Given the description of an element on the screen output the (x, y) to click on. 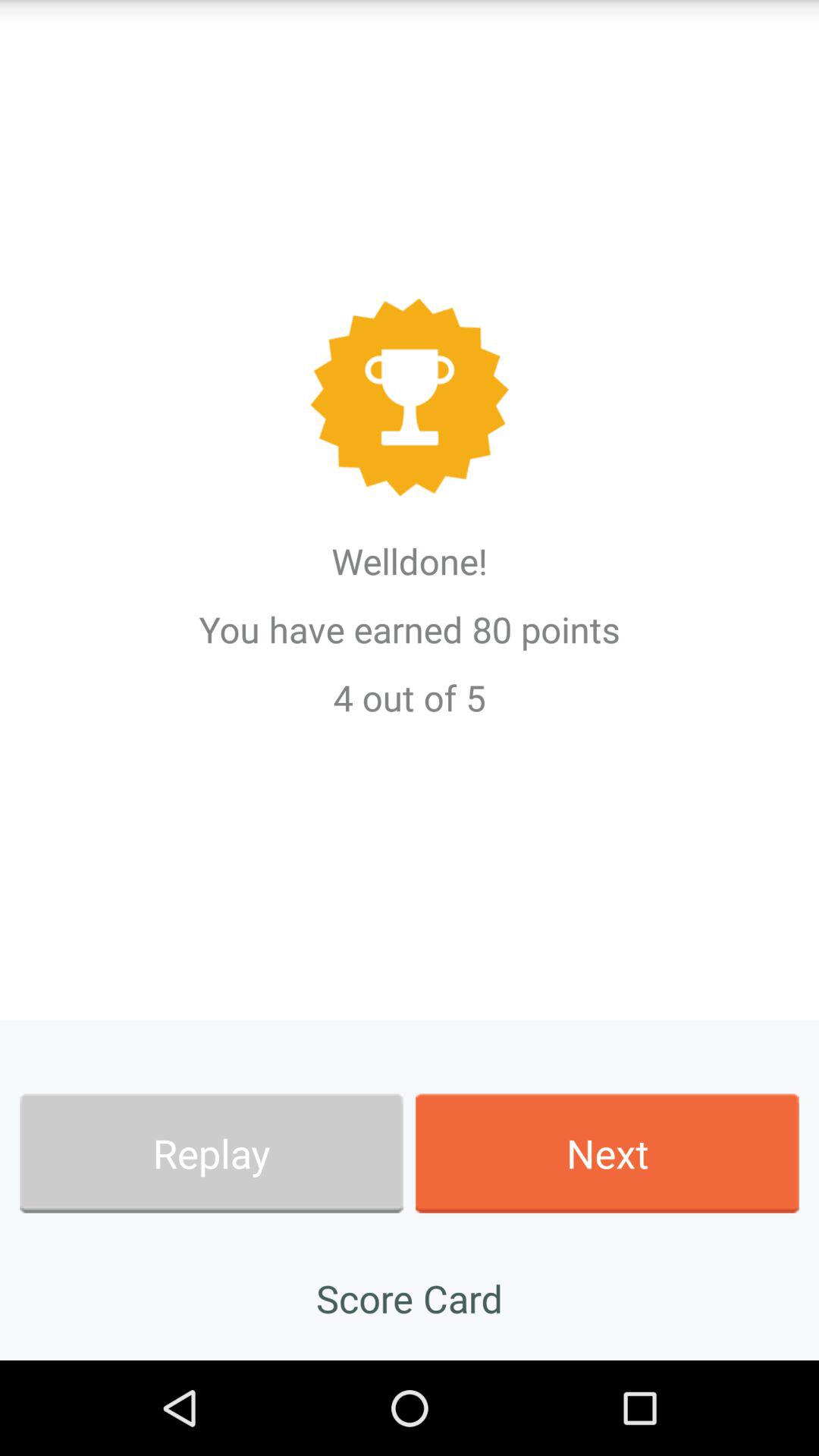
tap item to the left of next (211, 1153)
